Given the description of an element on the screen output the (x, y) to click on. 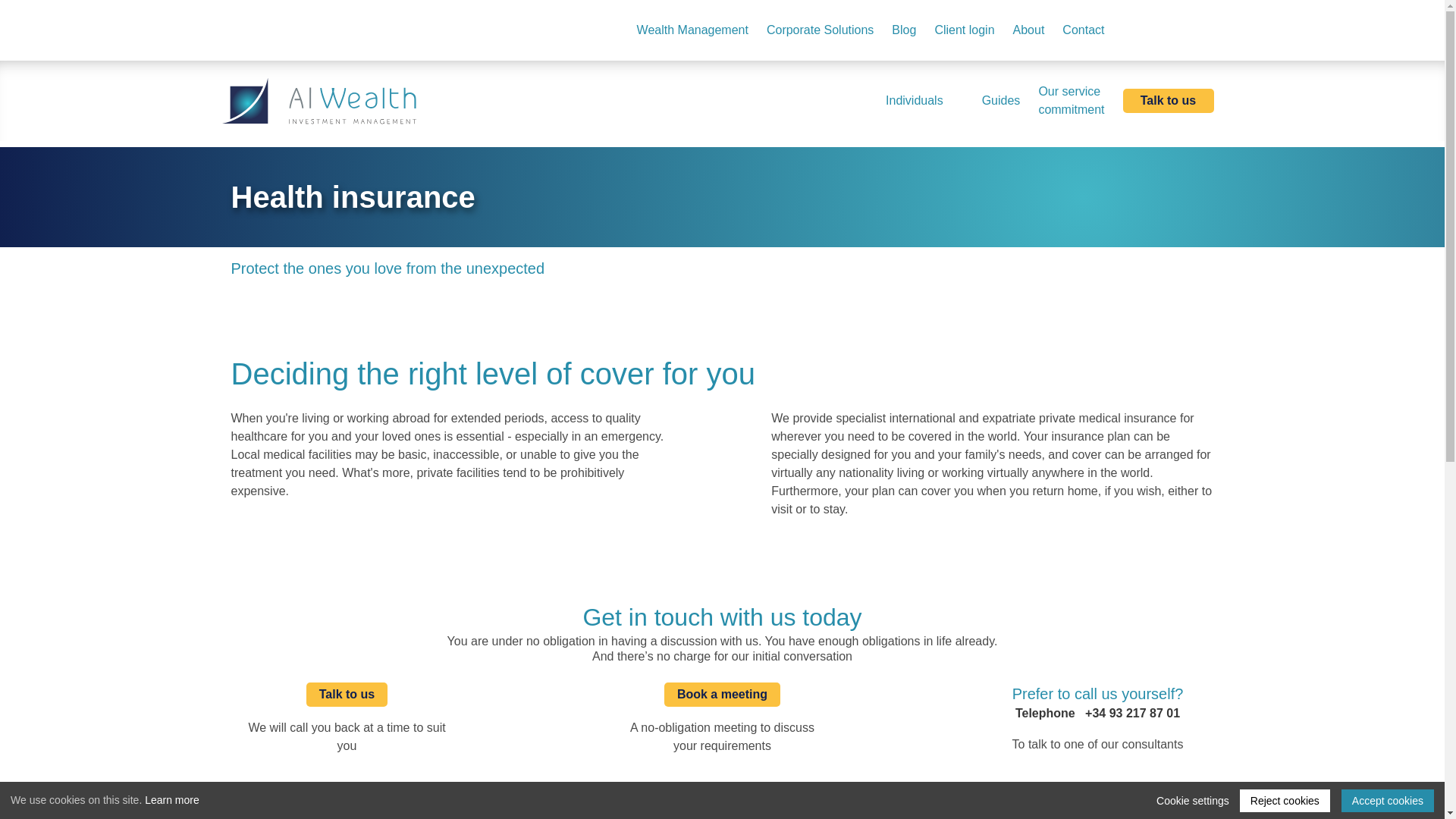
Corporate Solutions (819, 29)
Talk to us (1167, 100)
About (1029, 29)
Book a meeting (721, 694)
Contact (1082, 29)
Talk to us (1071, 100)
Individuals (346, 694)
Client login (918, 100)
Wealth Management (963, 29)
